Given the description of an element on the screen output the (x, y) to click on. 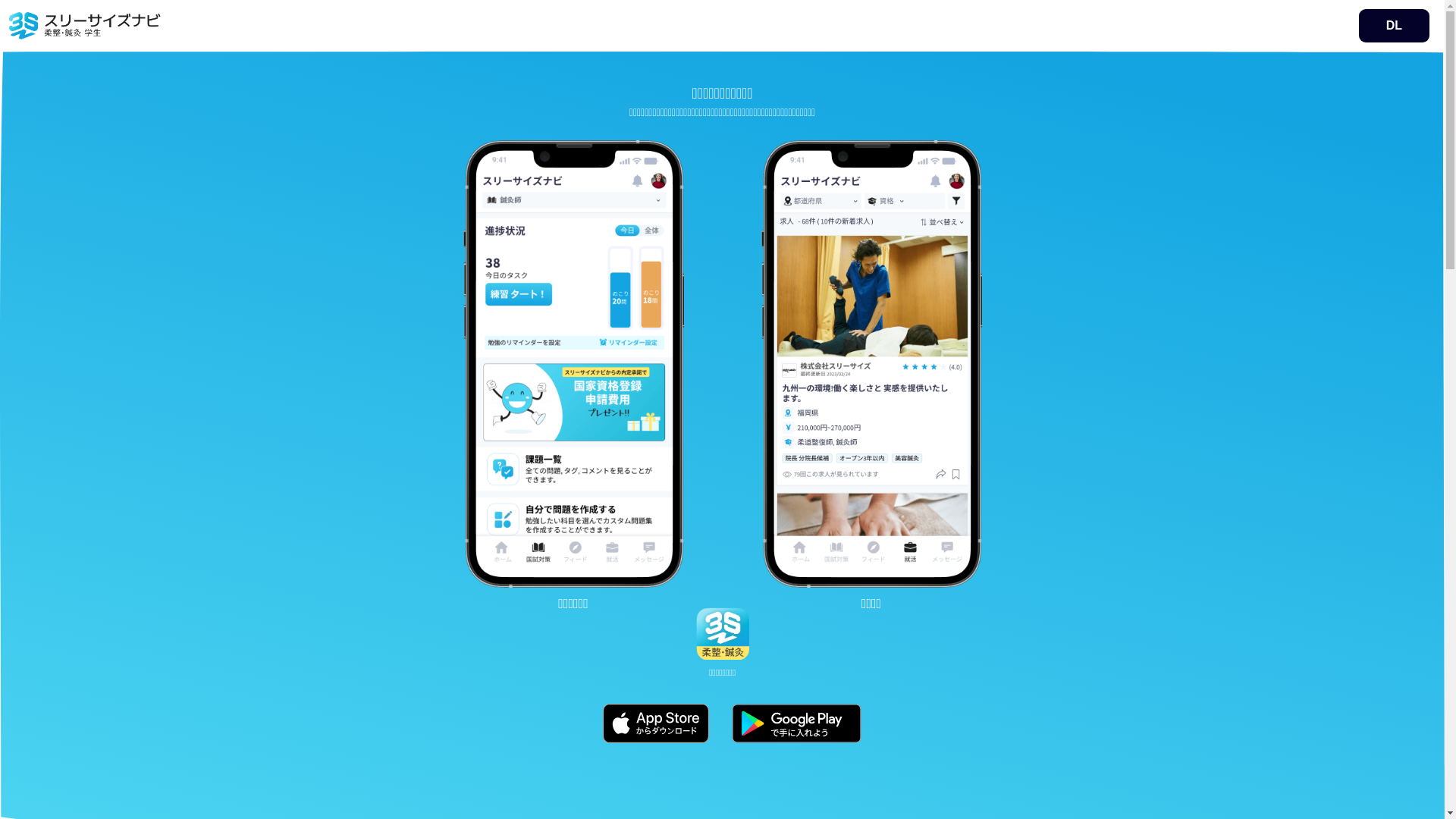
DL Element type: text (1393, 25)
